Given the description of an element on the screen output the (x, y) to click on. 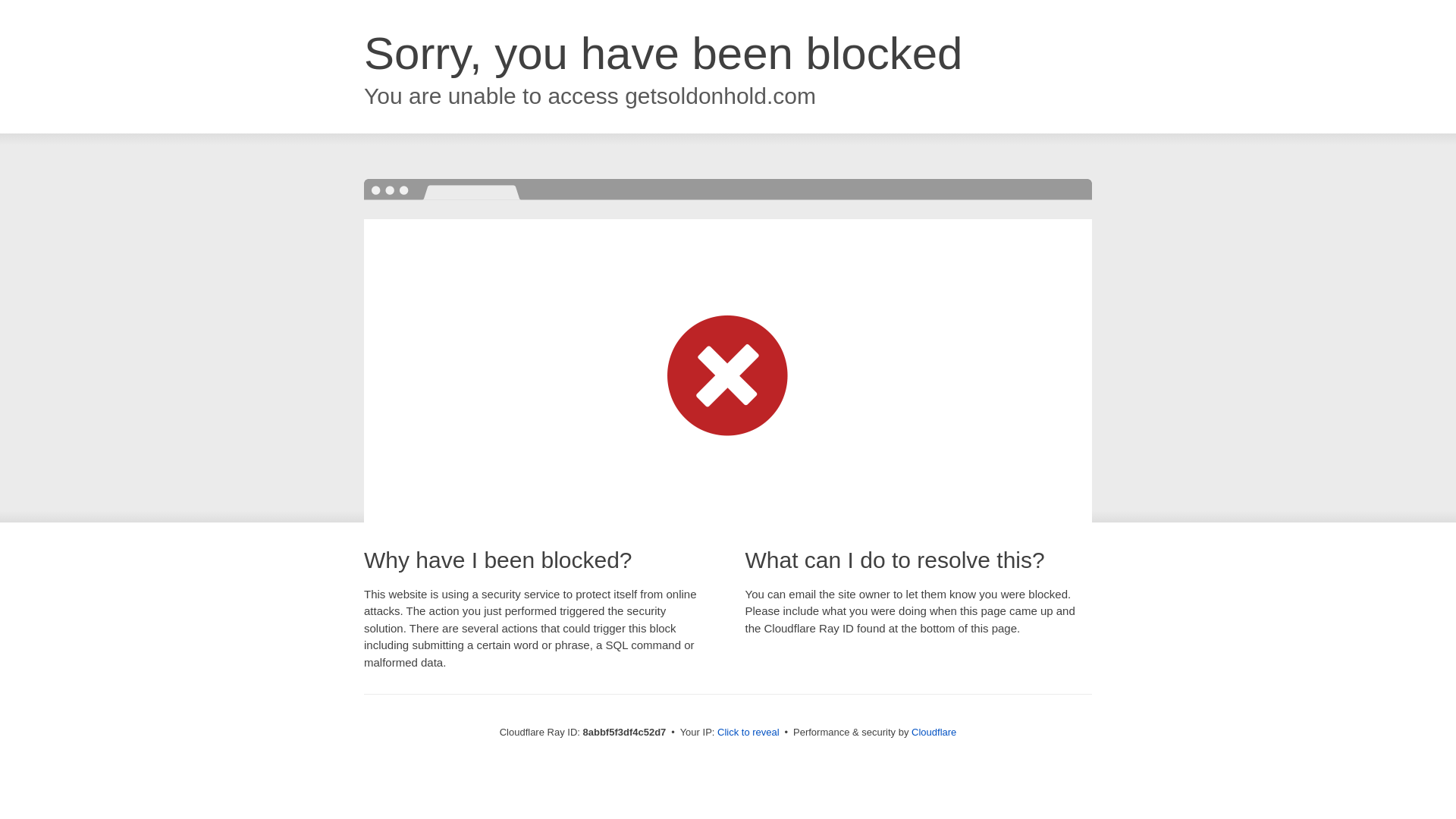
Cloudflare (933, 731)
Click to reveal (747, 732)
